Given the description of an element on the screen output the (x, y) to click on. 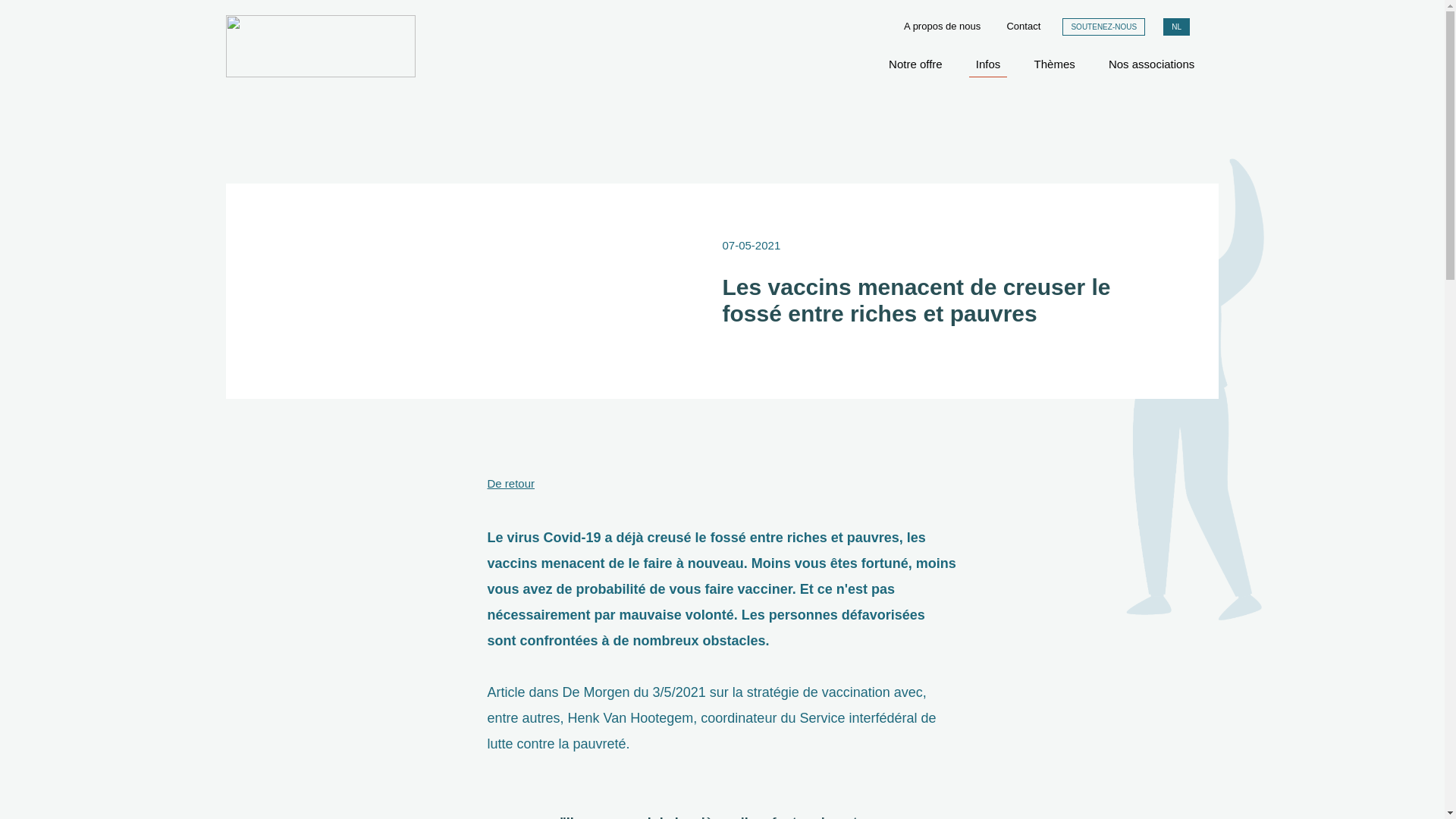
Nos associations Element type: text (1151, 64)
Contact Element type: text (1023, 26)
SOUTENEZ-NOUS Element type: text (1103, 26)
Infos Element type: text (988, 64)
Notre offre Element type: text (915, 64)
A propos de nous Element type: text (942, 26)
NL Element type: text (1176, 26)
De retour Element type: text (510, 482)
